Given the description of an element on the screen output the (x, y) to click on. 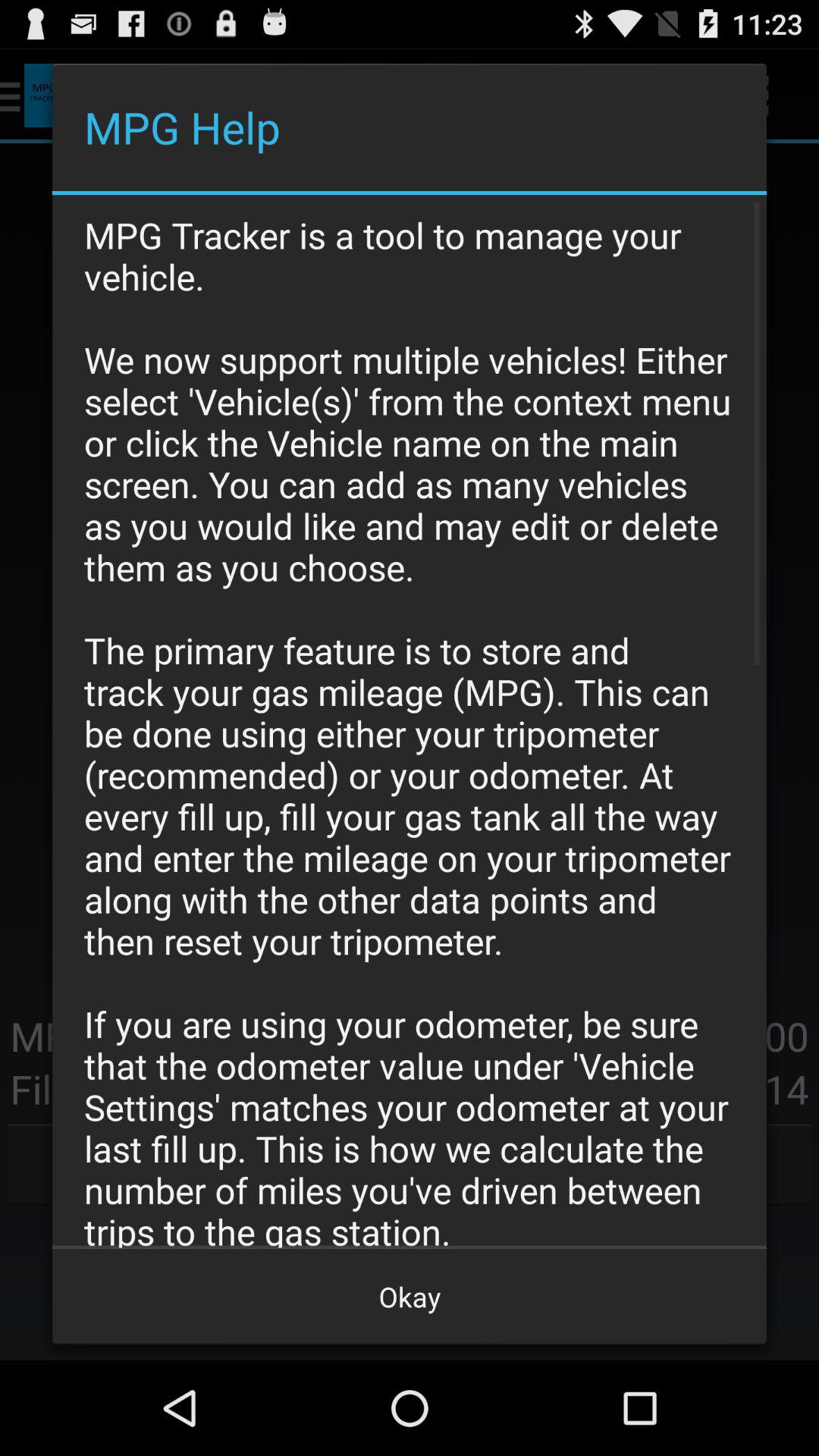
swipe to okay (409, 1296)
